Given the description of an element on the screen output the (x, y) to click on. 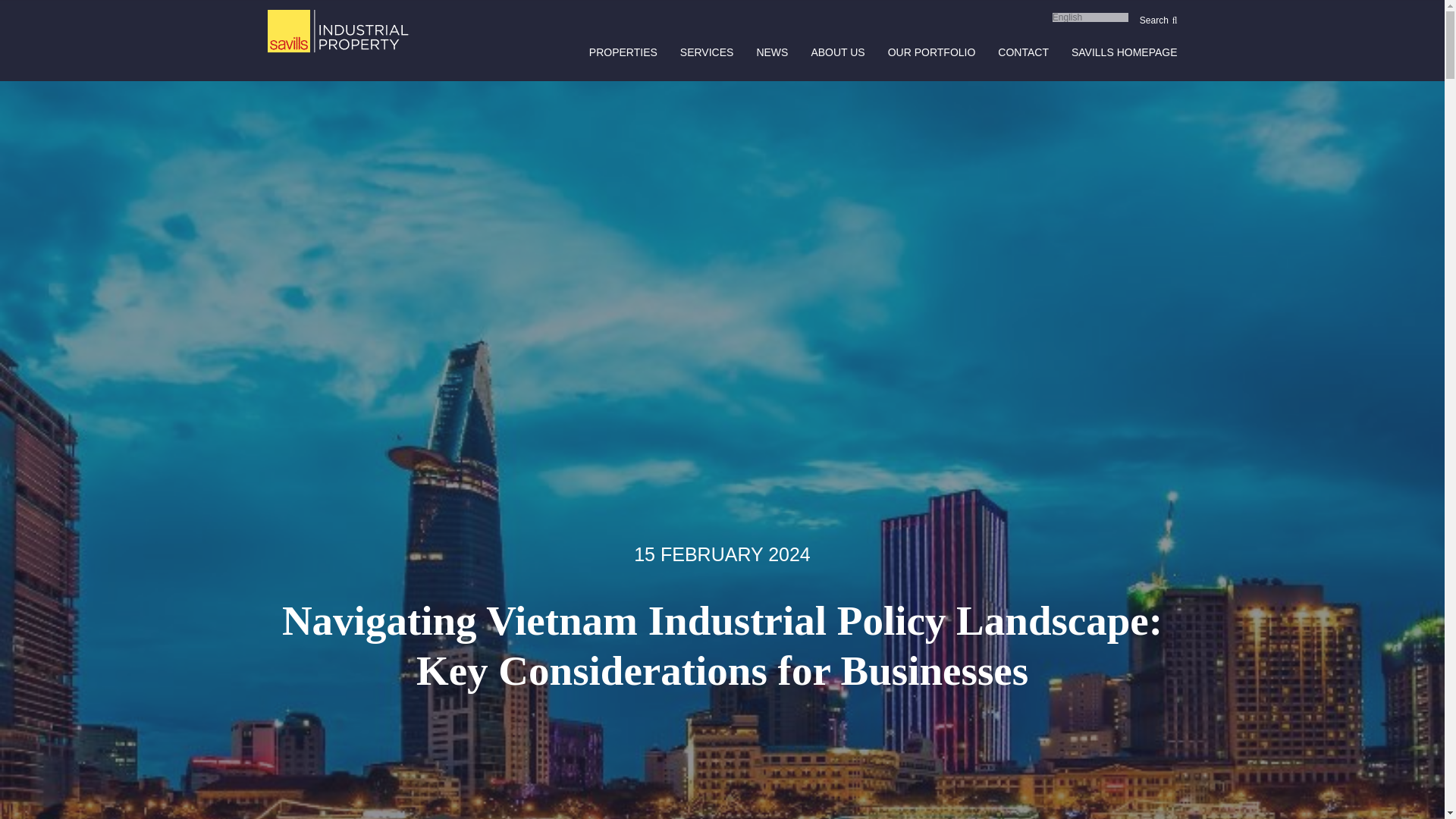
CONTACT (1022, 51)
OUR PORTFOLIO (931, 51)
SAVILLS HOMEPAGE (1124, 51)
SERVICES (706, 51)
ABOUT US (837, 51)
NEWS (771, 51)
PROPERTIES (623, 51)
